Given the description of an element on the screen output the (x, y) to click on. 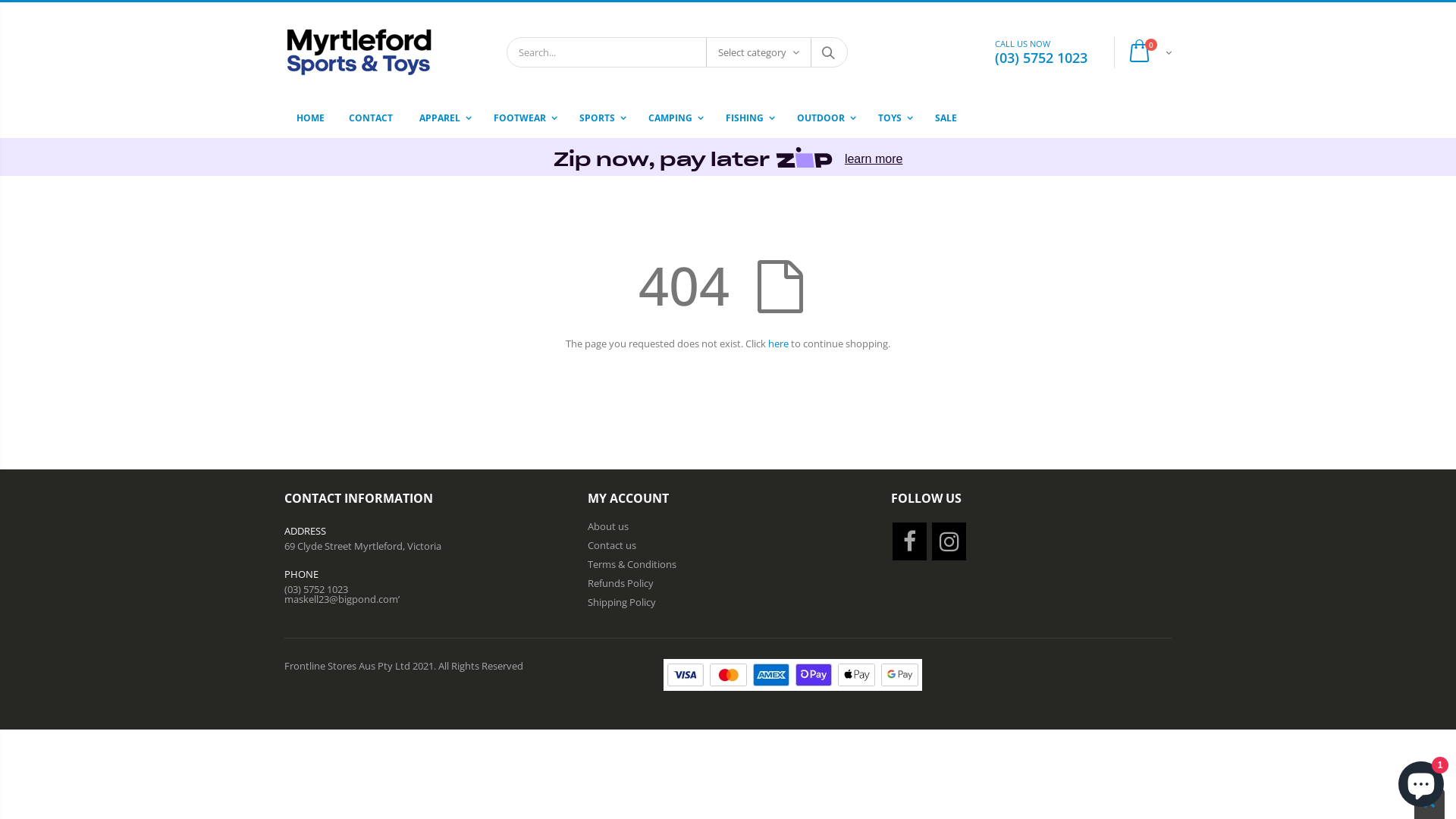
Contact us Element type: text (611, 545)
APPAREL Element type: text (443, 118)
SALE Element type: text (945, 118)
TOYS Element type: text (893, 118)
here Element type: text (778, 343)
0 Element type: text (1146, 52)
Terms & Conditions Element type: text (631, 564)
Select category Element type: text (758, 51)
HOME Element type: text (310, 118)
CONTACT Element type: text (370, 118)
Refunds Policy Element type: text (620, 582)
Shopify online store chat Element type: hover (1420, 780)
OUTDOOR Element type: text (823, 118)
SPORTS Element type: text (600, 118)
Shipping Policy Element type: text (621, 601)
Search Element type: text (828, 51)
CAMPING Element type: text (673, 118)
FISHING Element type: text (747, 118)
About us Element type: text (607, 526)
FOOTWEAR Element type: text (522, 118)
